Given the description of an element on the screen output the (x, y) to click on. 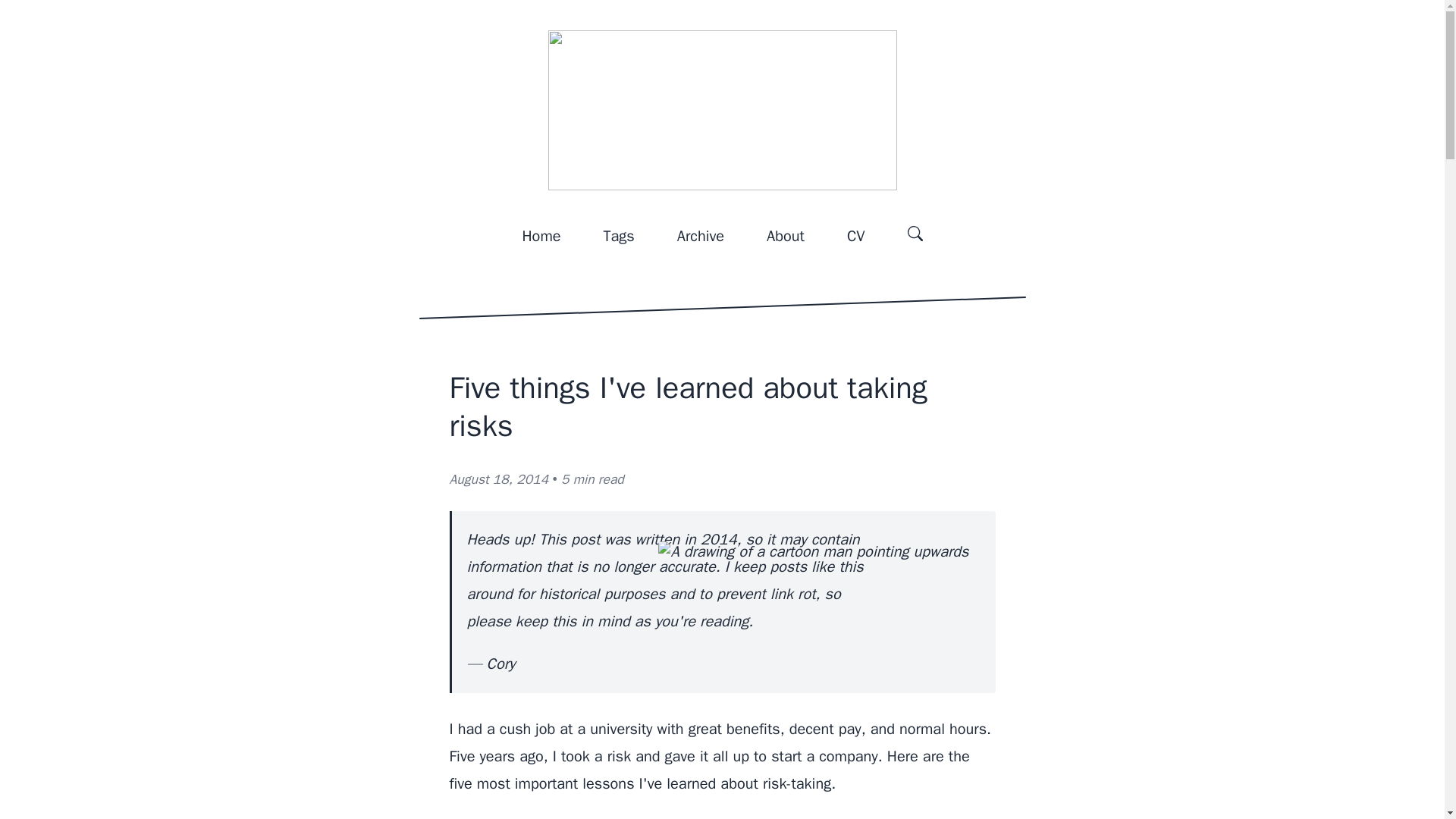
About (786, 236)
Home (540, 236)
Archive (700, 236)
Tags (619, 236)
